Given the description of an element on the screen output the (x, y) to click on. 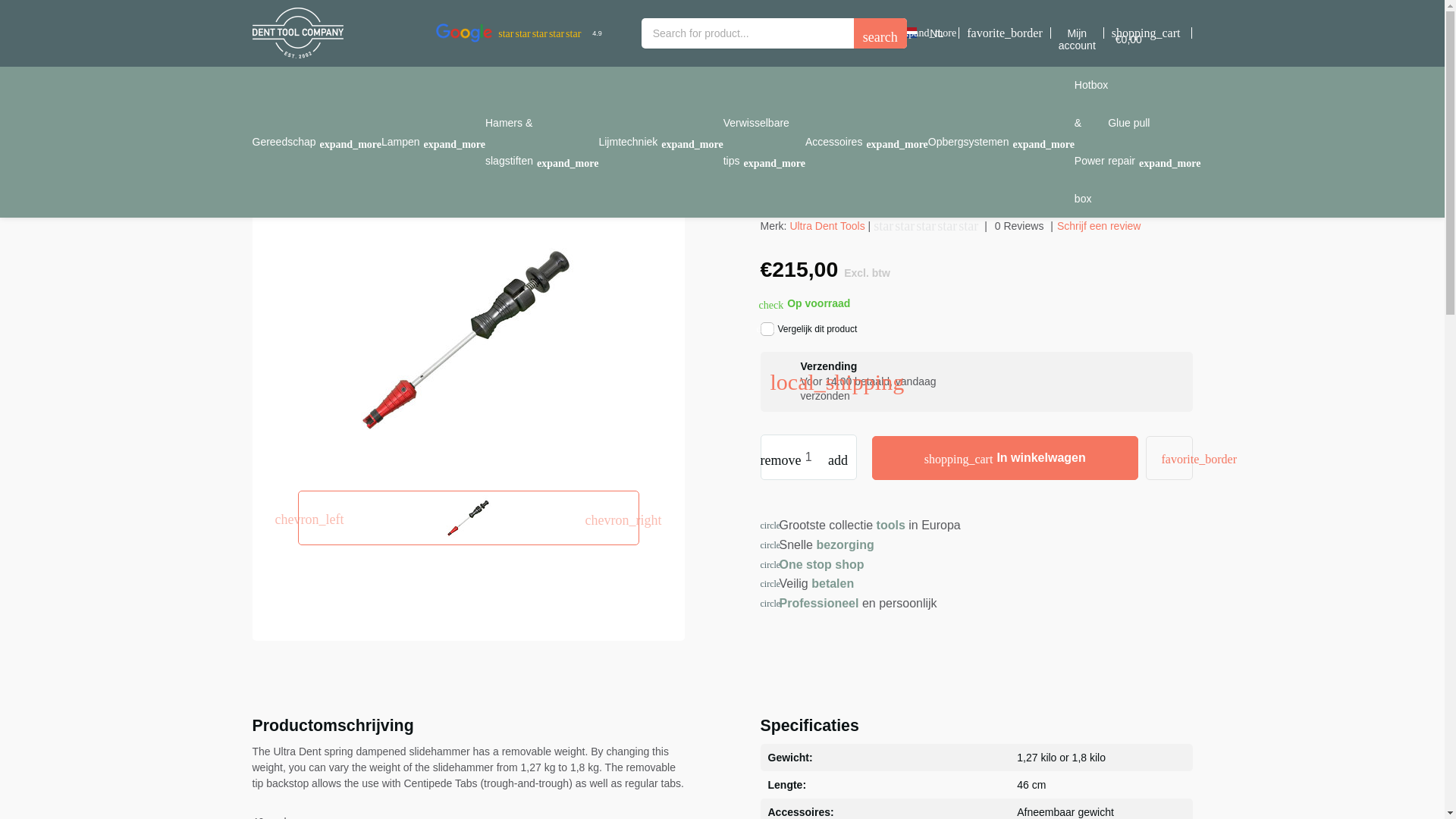
4.9 (521, 32)
NL (936, 33)
Zoeken (880, 33)
Mijn account (1077, 39)
Gereedschap (315, 141)
Gereedschap (315, 141)
1 (808, 456)
